Given the description of an element on the screen output the (x, y) to click on. 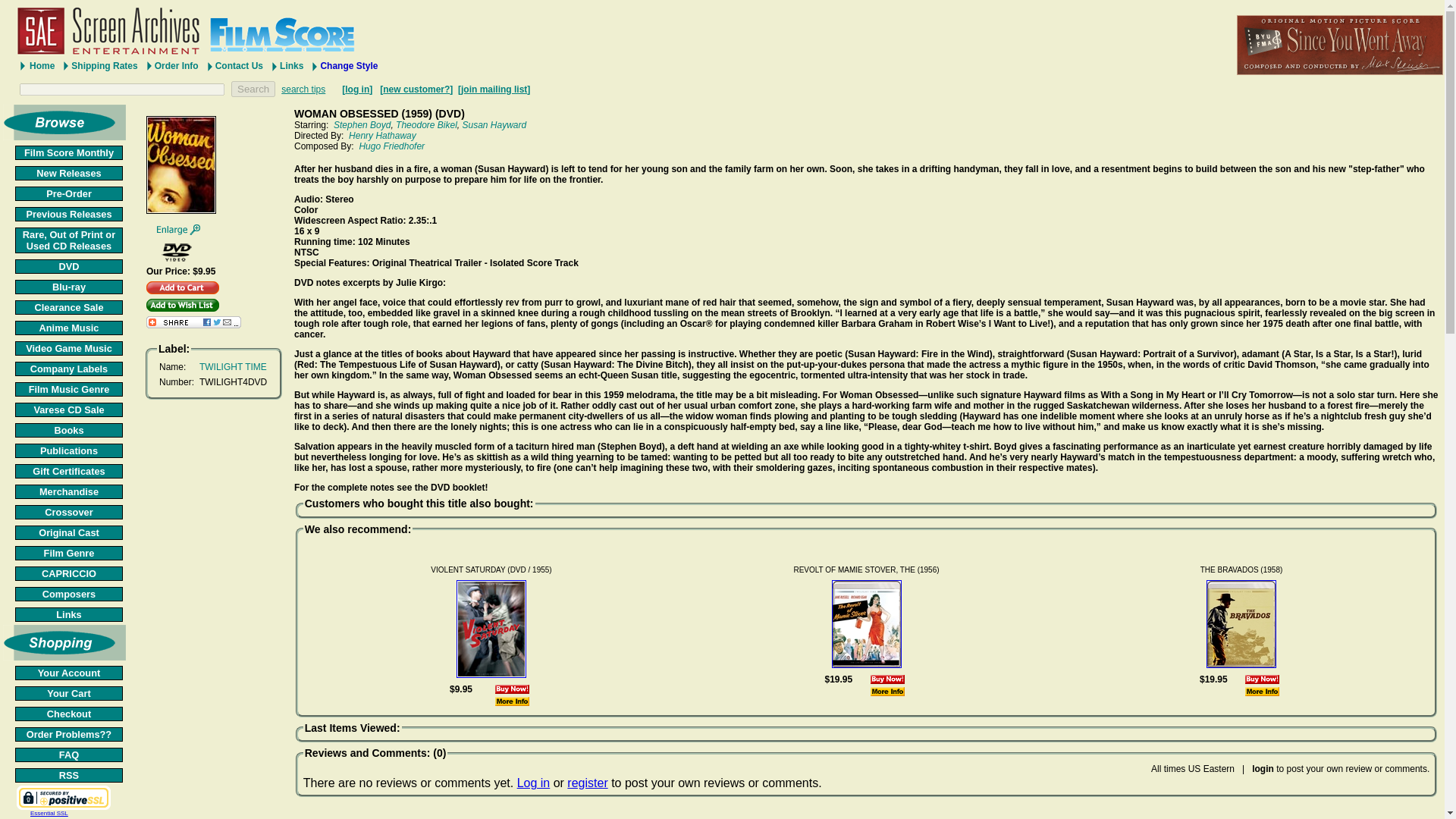
Clearance Sale (68, 307)
Gift Certificates (68, 471)
Anime Music (68, 327)
Rare, Out of Print or Used CD Releases (68, 240)
Composers (68, 594)
Video Game Music (68, 348)
new customer? (415, 88)
Contact Us (234, 65)
Blu-ray (68, 287)
Original Cast (68, 532)
Books (68, 430)
Previous Releases (68, 214)
join mailing list (494, 88)
Varese CD Sale (68, 409)
New Releases (68, 173)
